Given the description of an element on the screen output the (x, y) to click on. 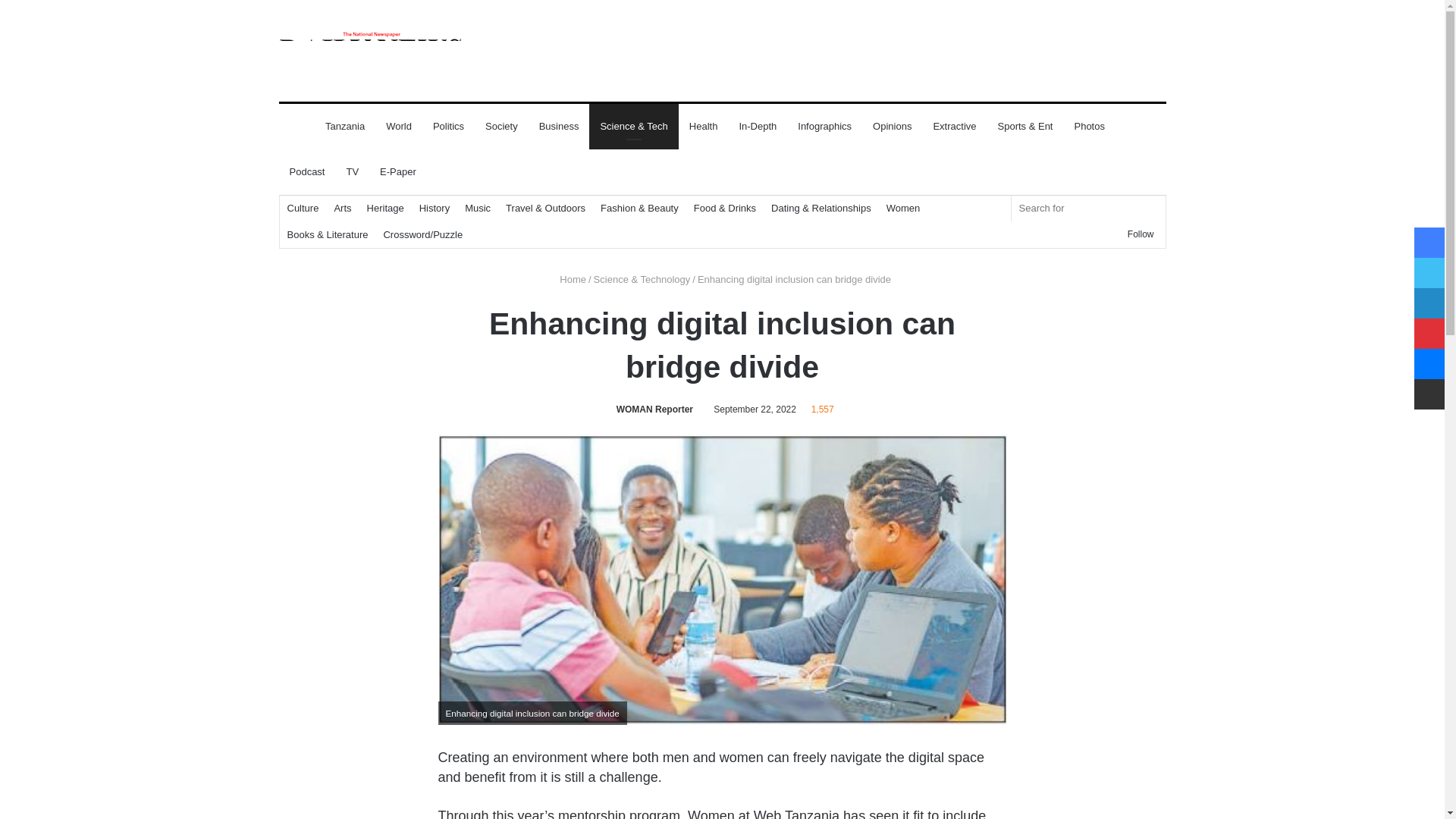
Business (558, 126)
Extractive (954, 126)
Culture (302, 207)
WOMAN Reporter (651, 409)
Women (903, 207)
Search for (1149, 207)
Opinions (891, 126)
Politics (448, 126)
Music (477, 207)
In-Depth (757, 126)
